Given the description of an element on the screen output the (x, y) to click on. 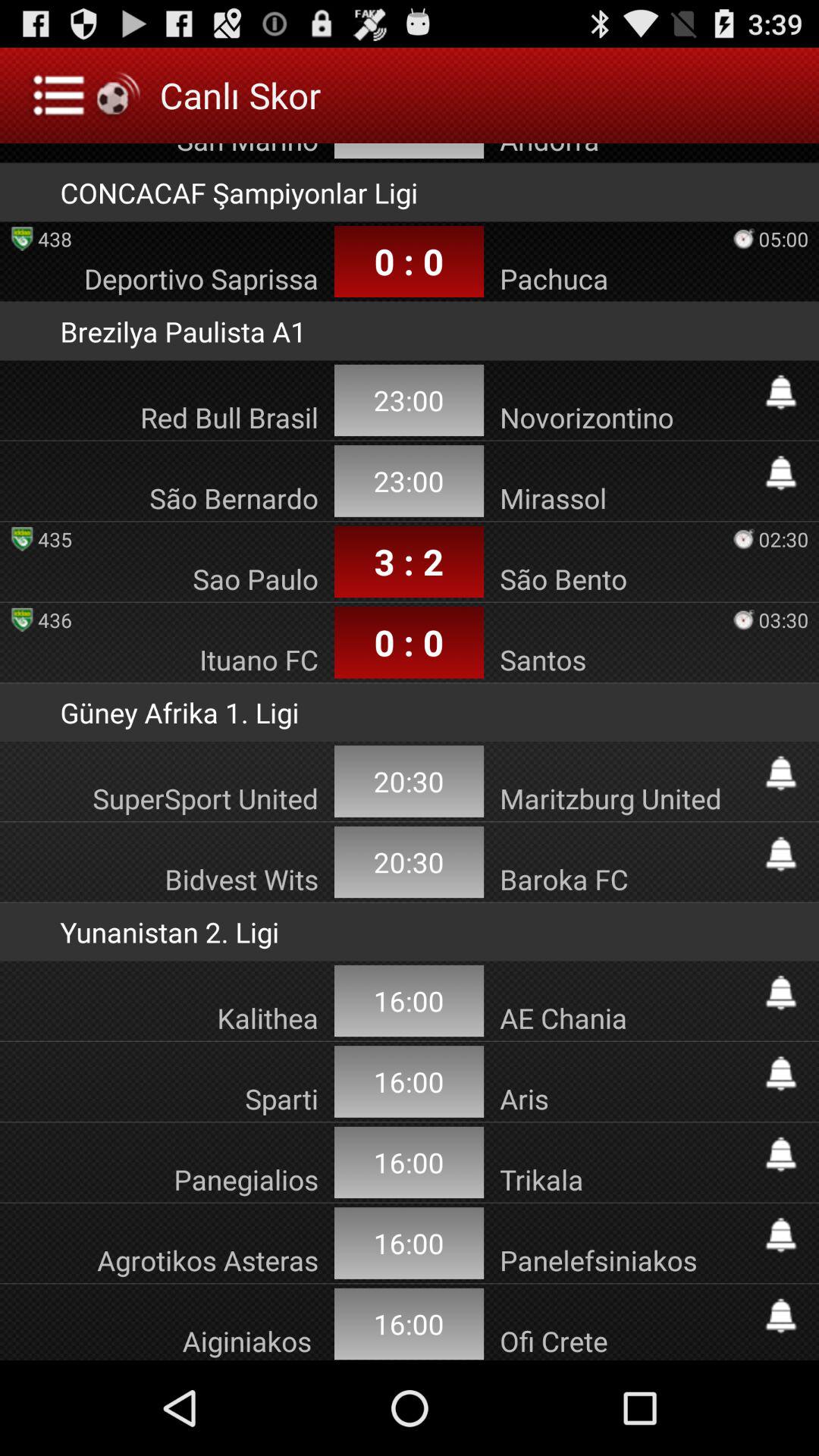
turn on notifications (780, 1154)
